Given the description of an element on the screen output the (x, y) to click on. 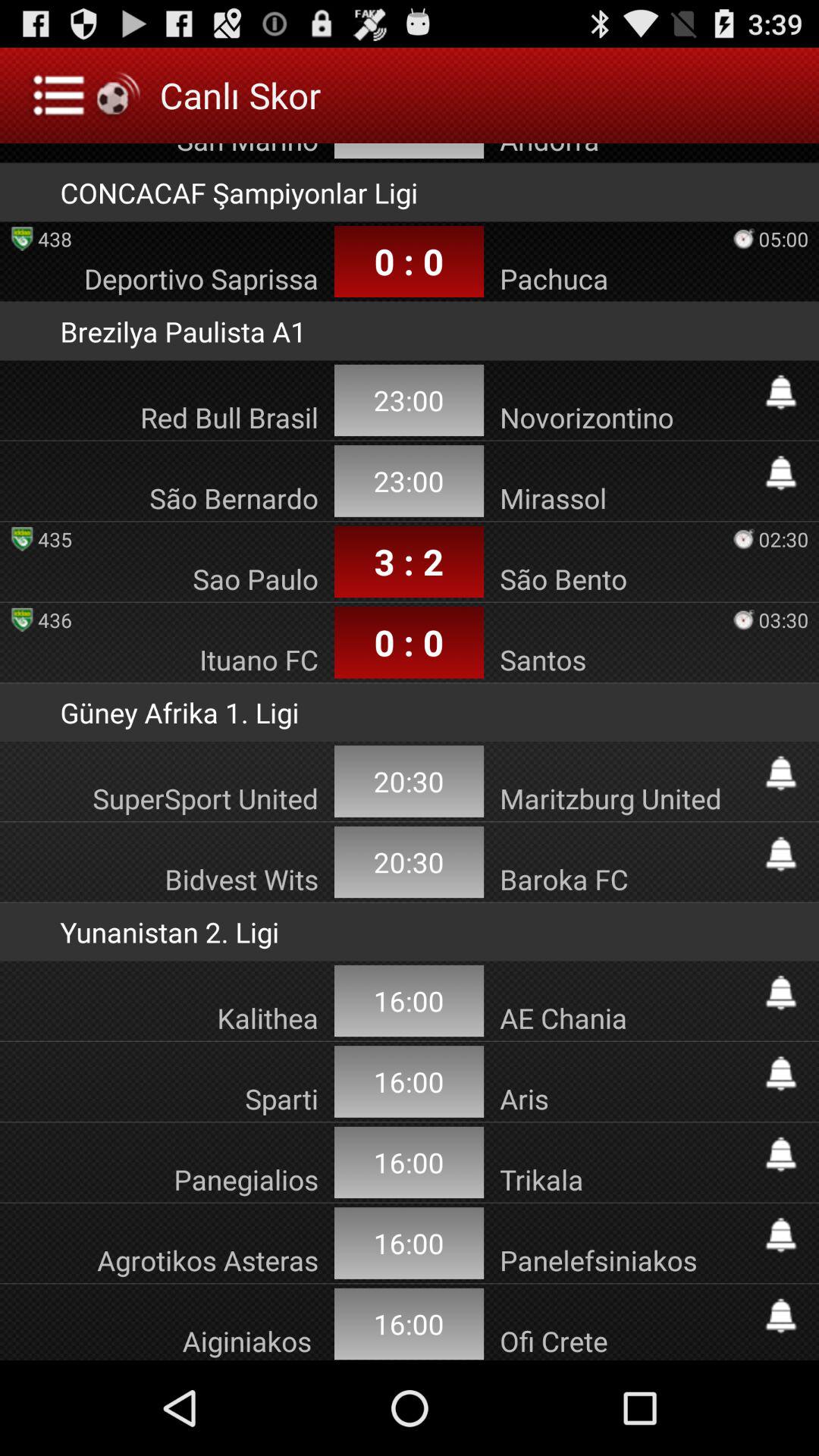
turn on notifications (780, 1154)
